Given the description of an element on the screen output the (x, y) to click on. 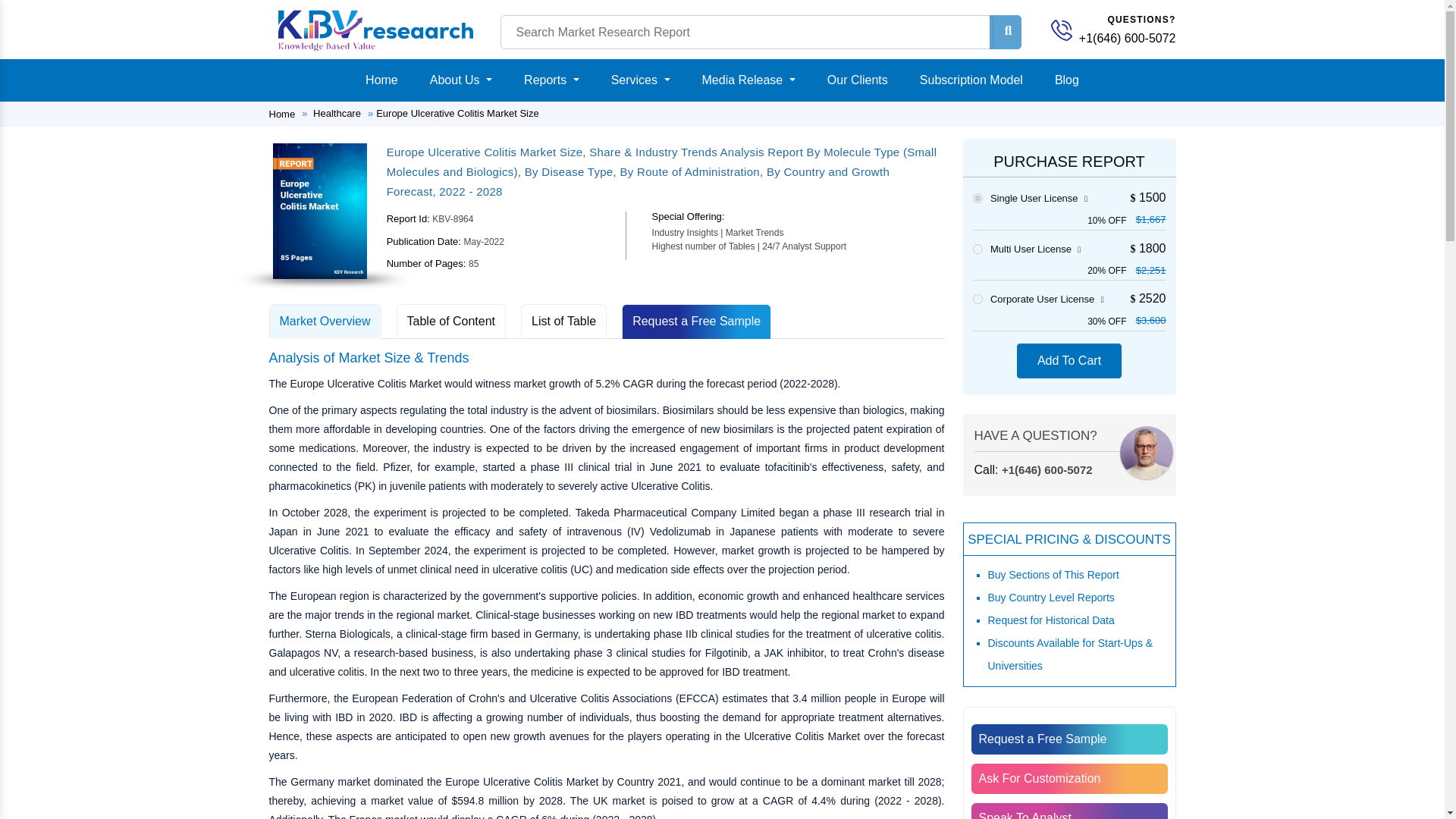
KBV Research (374, 30)
About Us (460, 80)
Blog (1066, 80)
KBV Research (374, 29)
1500 (976, 198)
Our Clients (857, 80)
1800 (976, 248)
KBV Research (1061, 29)
Subscription Model (971, 80)
Home (381, 80)
